Given the description of an element on the screen output the (x, y) to click on. 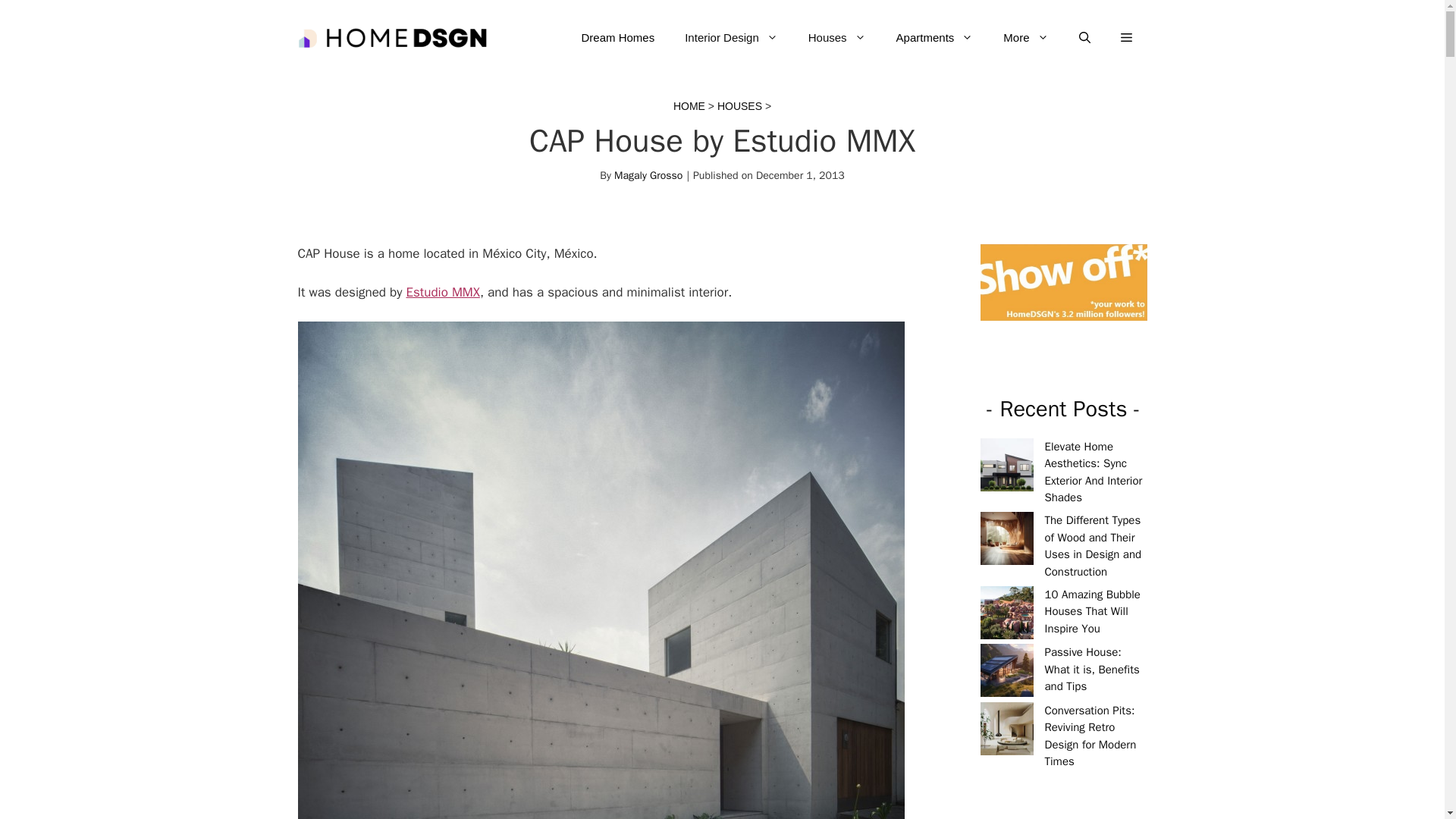
More (1025, 37)
Dream Homes (617, 37)
Show-off-your-work (1063, 282)
Interior Design (731, 37)
Apartments (934, 37)
Houses (836, 37)
